Given the description of an element on the screen output the (x, y) to click on. 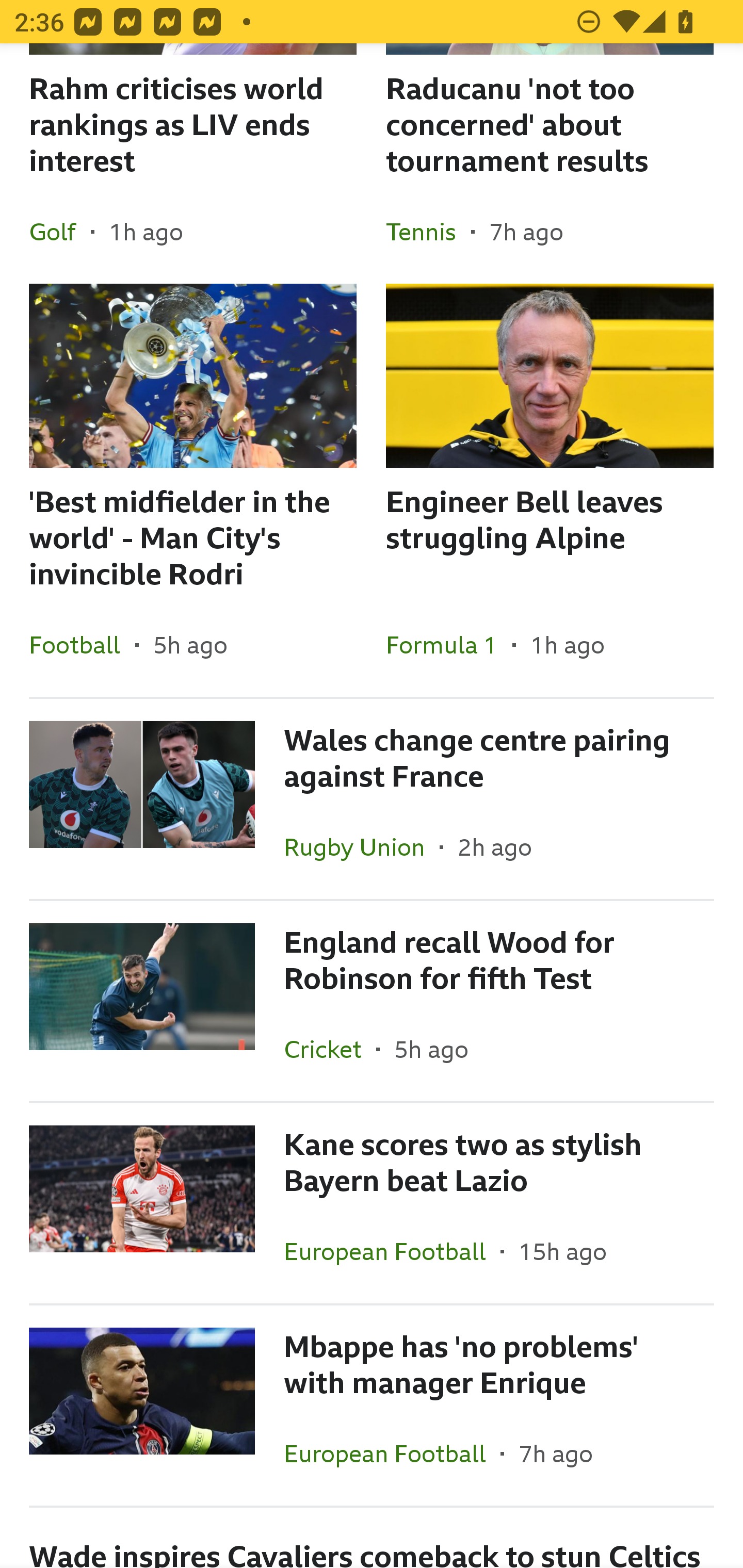
Golf In the section Golf (59, 230)
Tennis In the section Tennis (428, 230)
Football In the section Football (81, 644)
Formula 1 In the section Formula 1 (448, 644)
Rugby Union In the section Rugby Union (361, 846)
Cricket In the section Cricket (329, 1048)
European Football In the section European Football (391, 1251)
European Football In the section European Football (391, 1453)
Wade inspires Cavaliers comeback to stun Celtics (371, 1538)
